Given the description of an element on the screen output the (x, y) to click on. 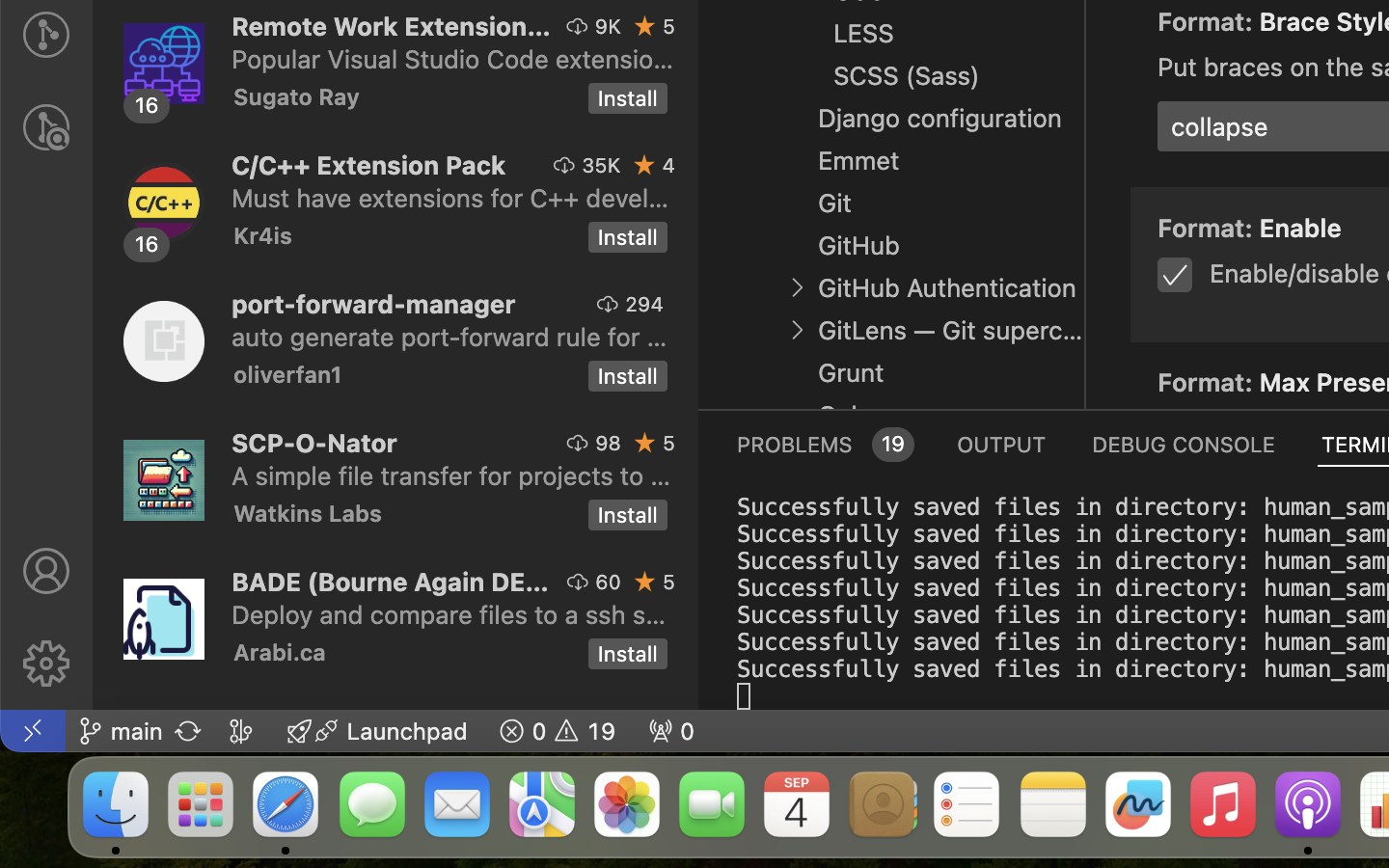
BADE (Bourne Again DEploy) Element type: AXStaticText (390, 581)
GitHub Element type: AXStaticText (858, 245)
 Element type: AXStaticText (563, 164)
Django configuration Element type: AXStaticText (939, 118)
 Element type: AXStaticText (644, 164)
